Given the description of an element on the screen output the (x, y) to click on. 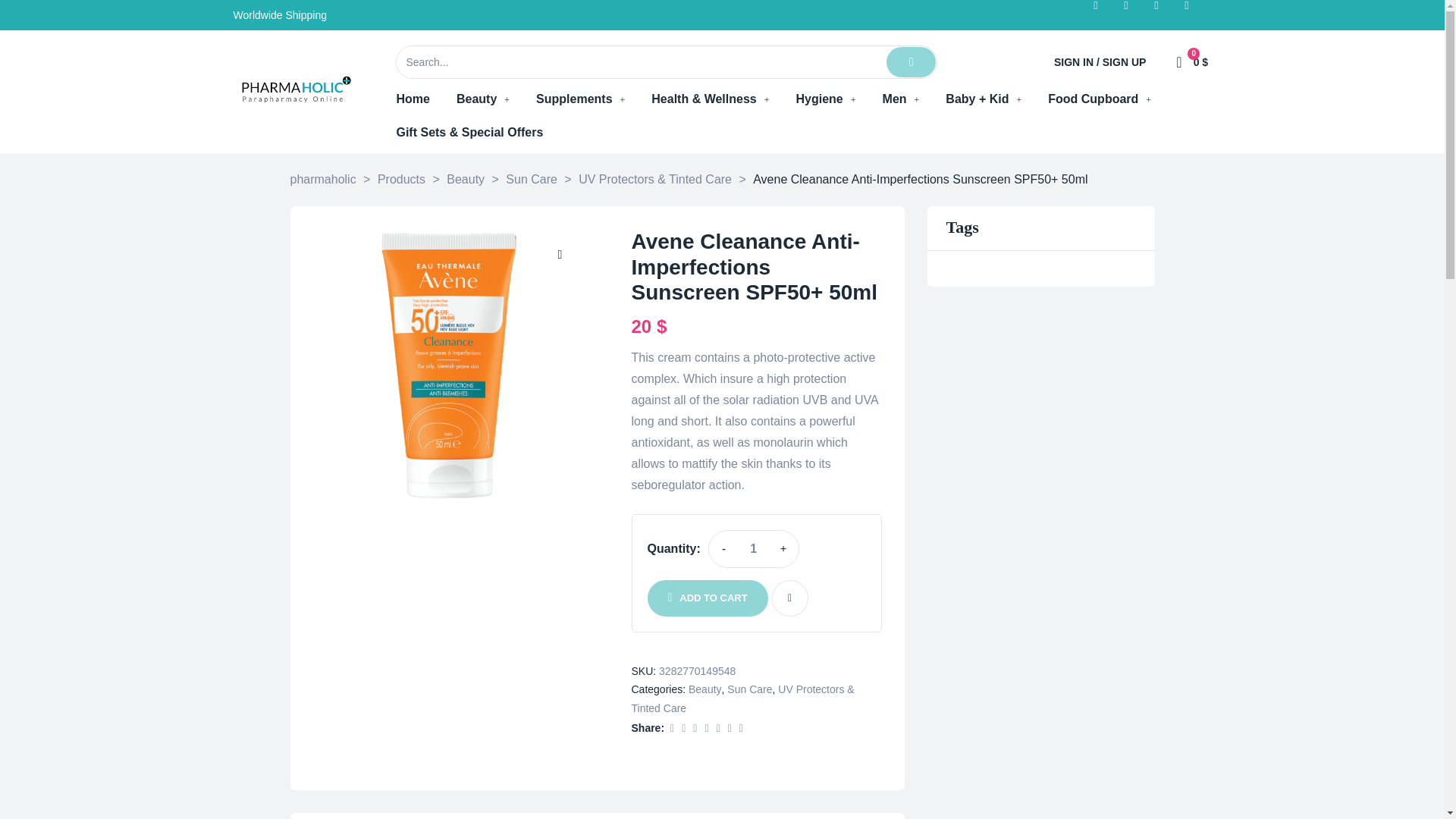
Search (640, 61)
Go to the Beauty Category archives. (465, 179)
1 (753, 548)
Avene Cleanance Sunscreen (449, 365)
Go to the Sun Care Category archives. (531, 179)
Qty (753, 548)
Go to Products. (401, 179)
Go to pharmaholic. (322, 179)
